Given the description of an element on the screen output the (x, y) to click on. 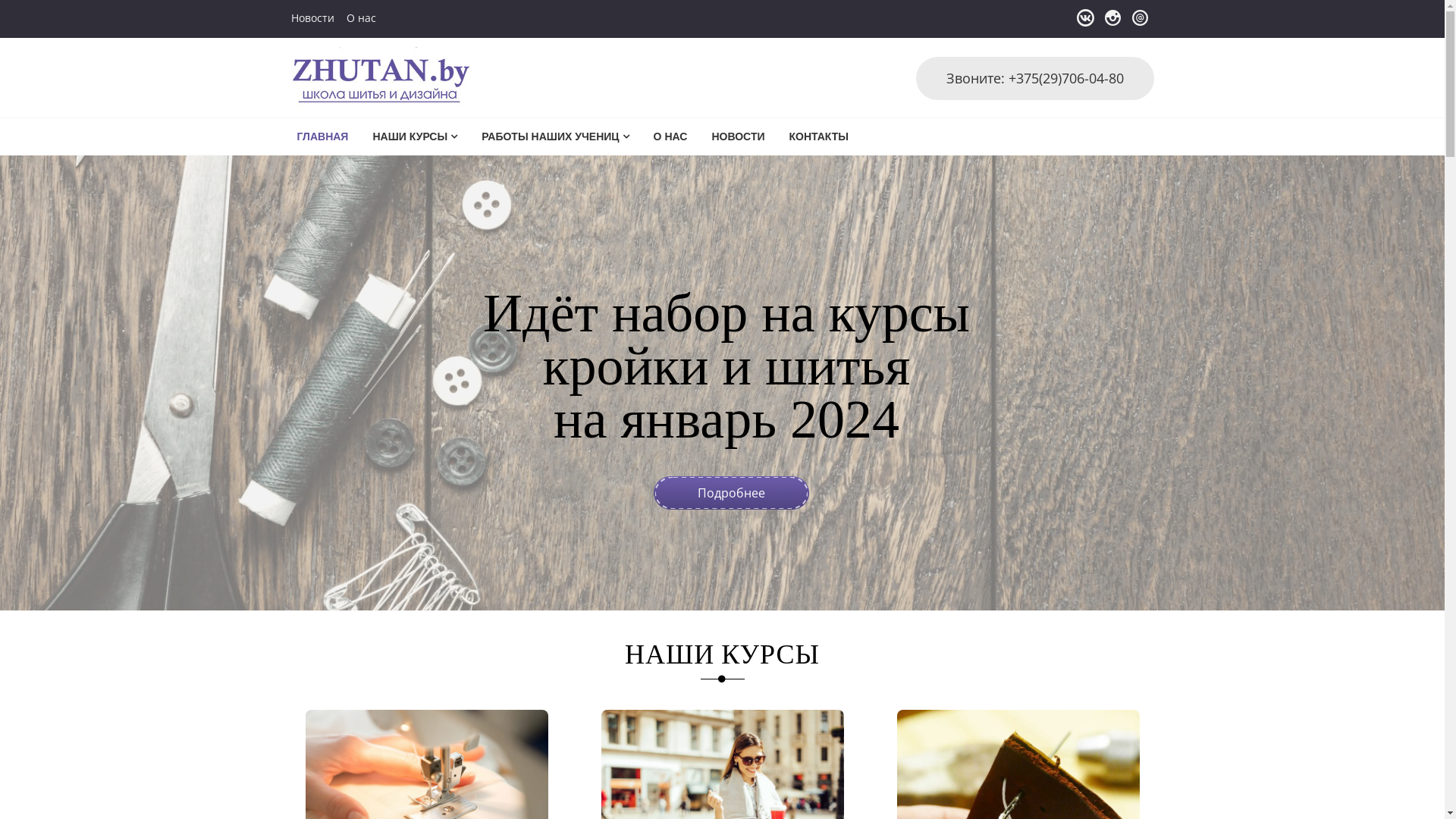
zhutan Element type: text (323, 90)
